Given the description of an element on the screen output the (x, y) to click on. 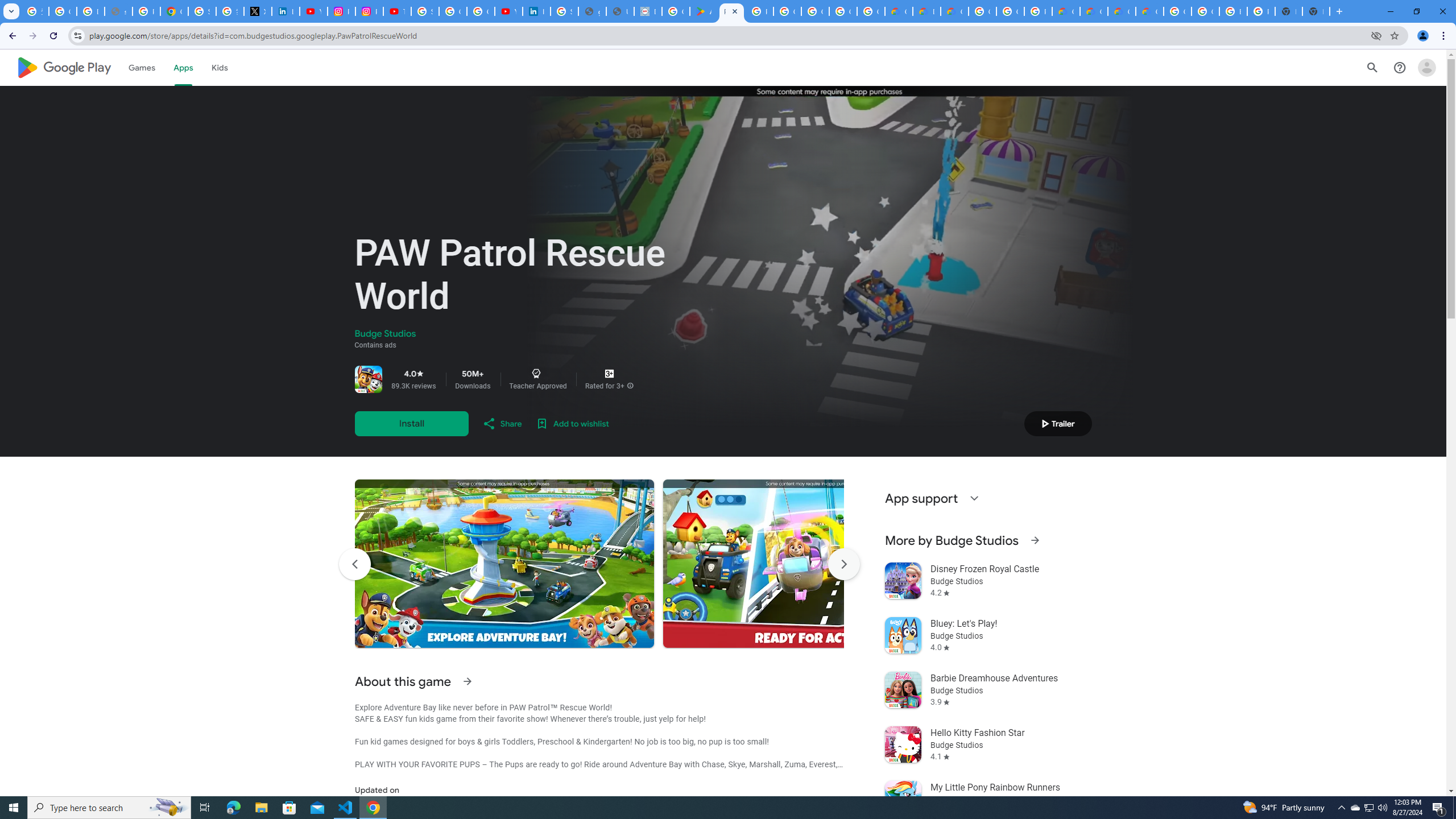
Google Cloud Service Health (1150, 11)
Kids (219, 67)
Open account menu (1426, 67)
YouTube Content Monetization Policies - How YouTube Works (313, 11)
User Details (620, 11)
Scroll Previous (354, 563)
